Given the description of an element on the screen output the (x, y) to click on. 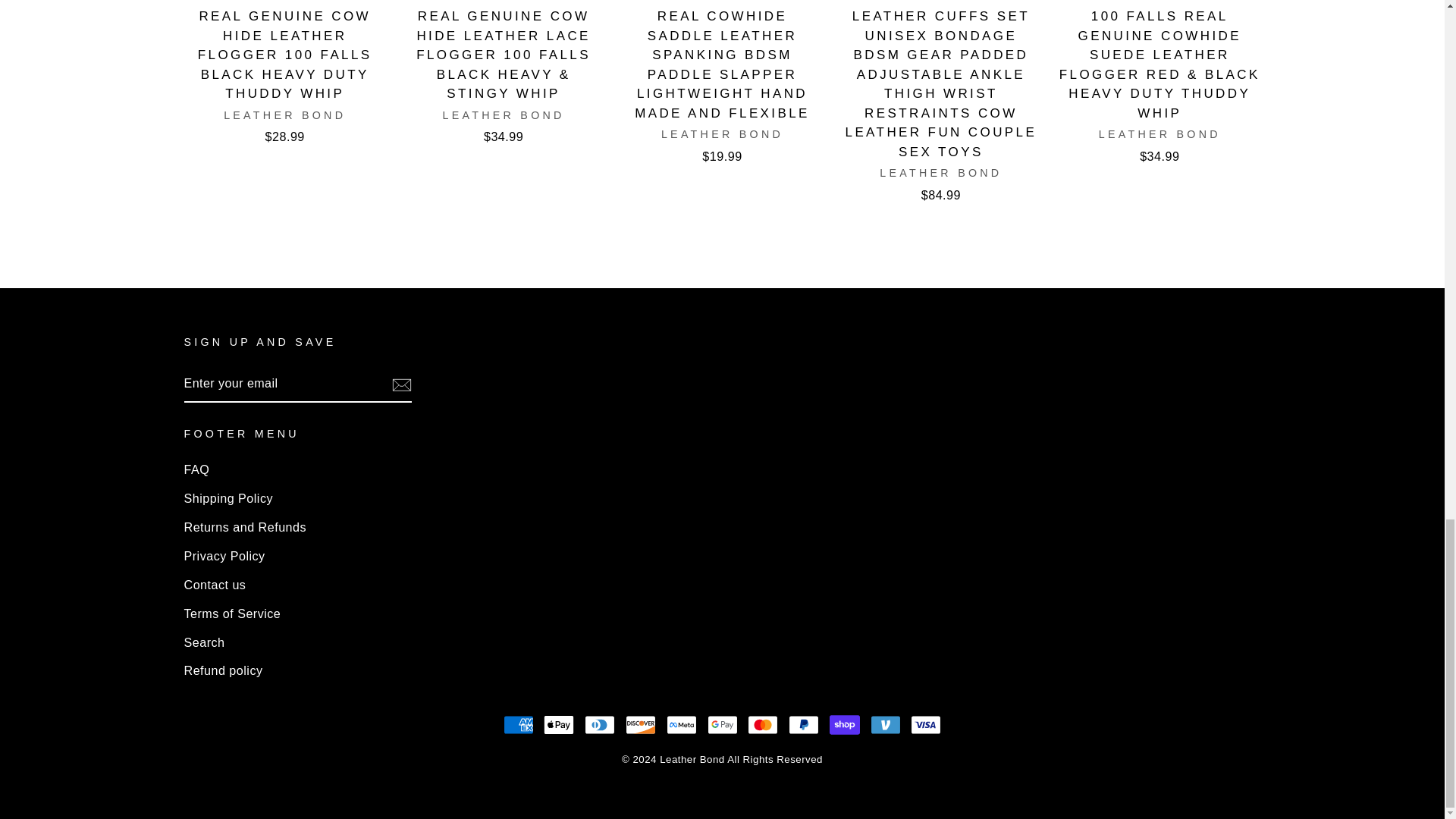
Diners Club (599, 725)
Meta Pay (681, 725)
Shop Pay (844, 725)
Discover (641, 725)
Apple Pay (558, 725)
PayPal (803, 725)
American Express (518, 725)
Visa (925, 725)
Venmo (885, 725)
Mastercard (762, 725)
